Given the description of an element on the screen output the (x, y) to click on. 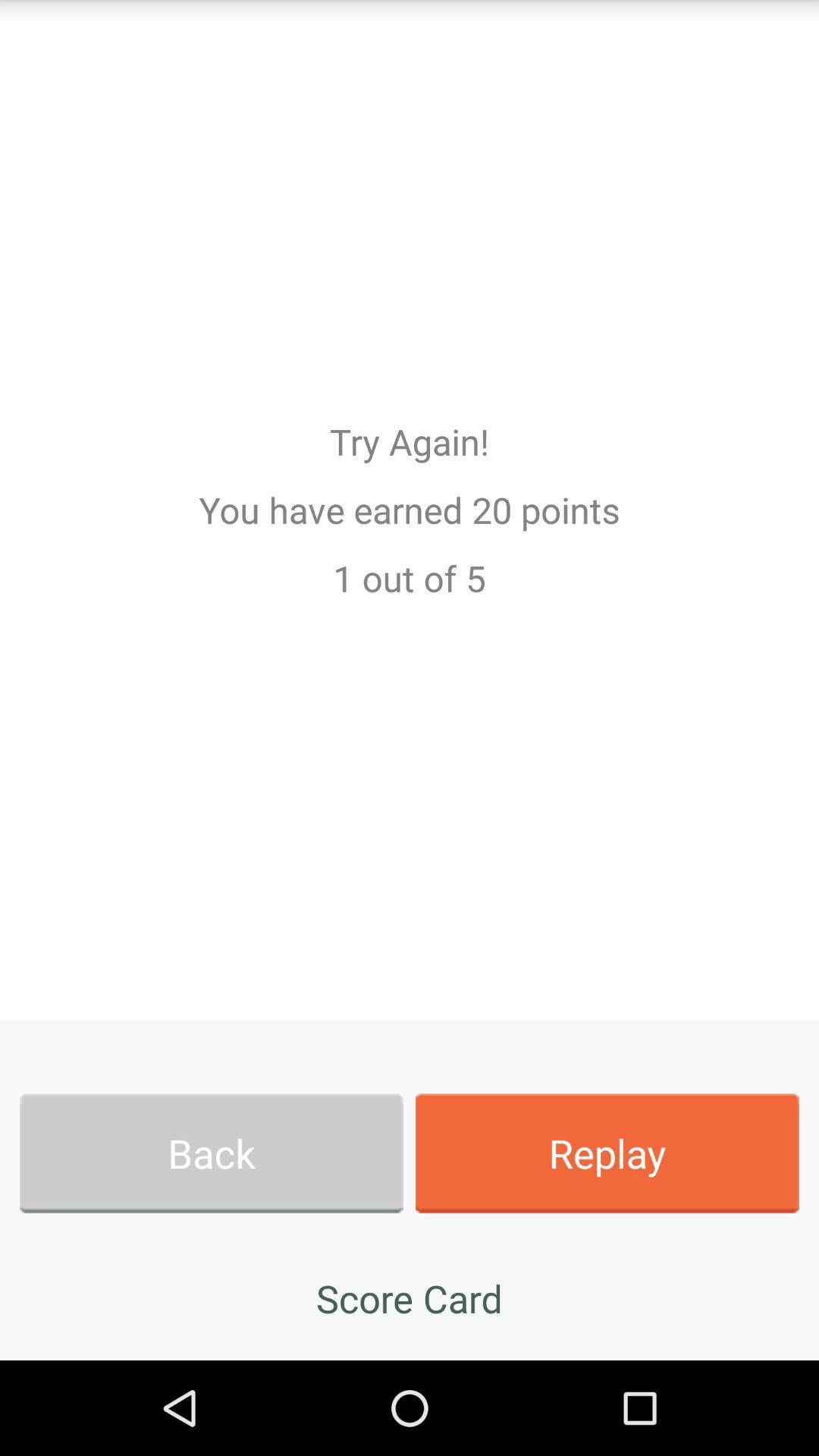
turn on the app above the score card item (607, 1153)
